Given the description of an element on the screen output the (x, y) to click on. 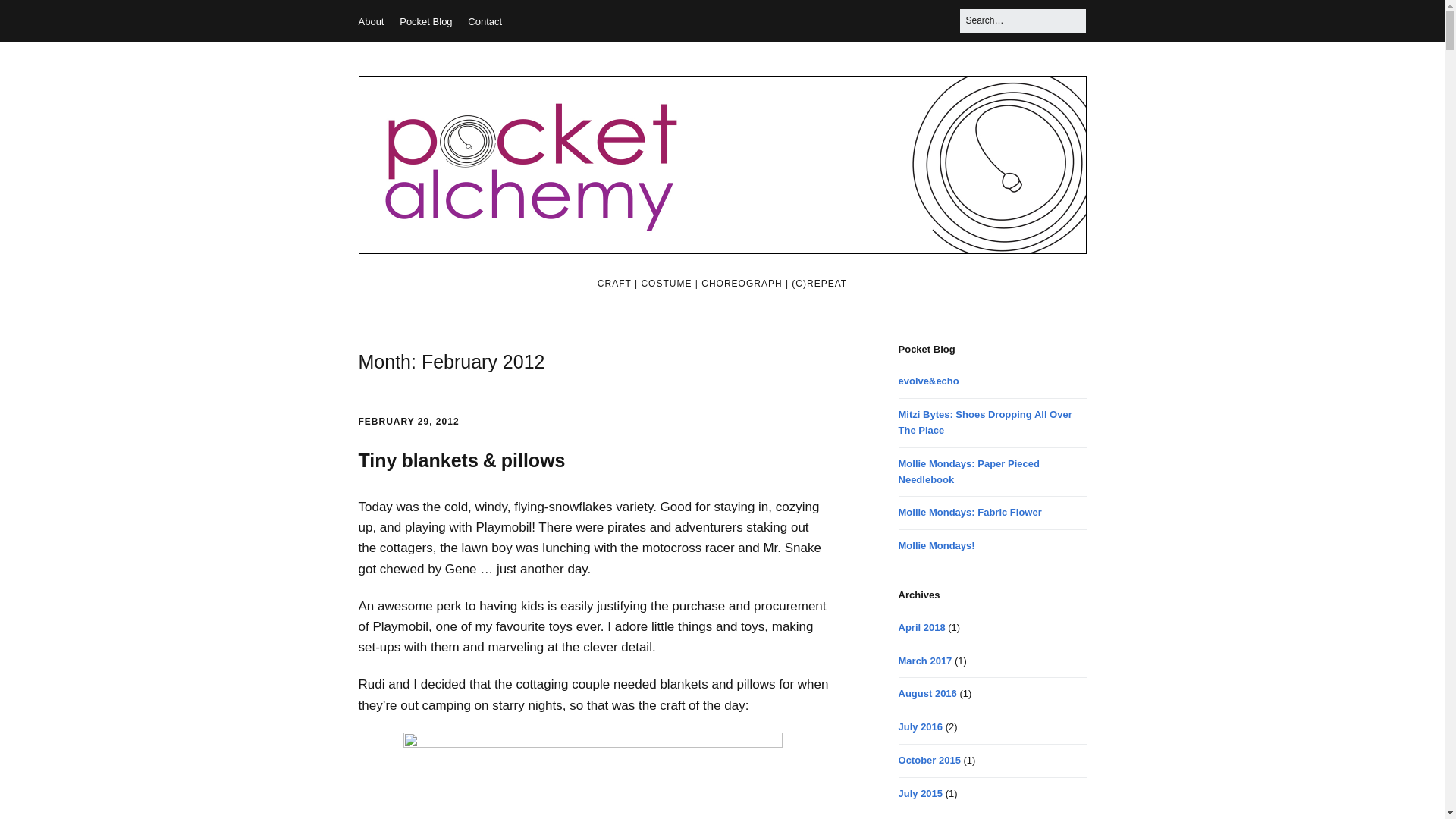
FEBRUARY 29, 2012 (408, 421)
About (371, 21)
Press Enter to submit your search (1022, 20)
Pocket Blog (424, 21)
Search (29, 16)
Contact (484, 21)
